Given the description of an element on the screen output the (x, y) to click on. 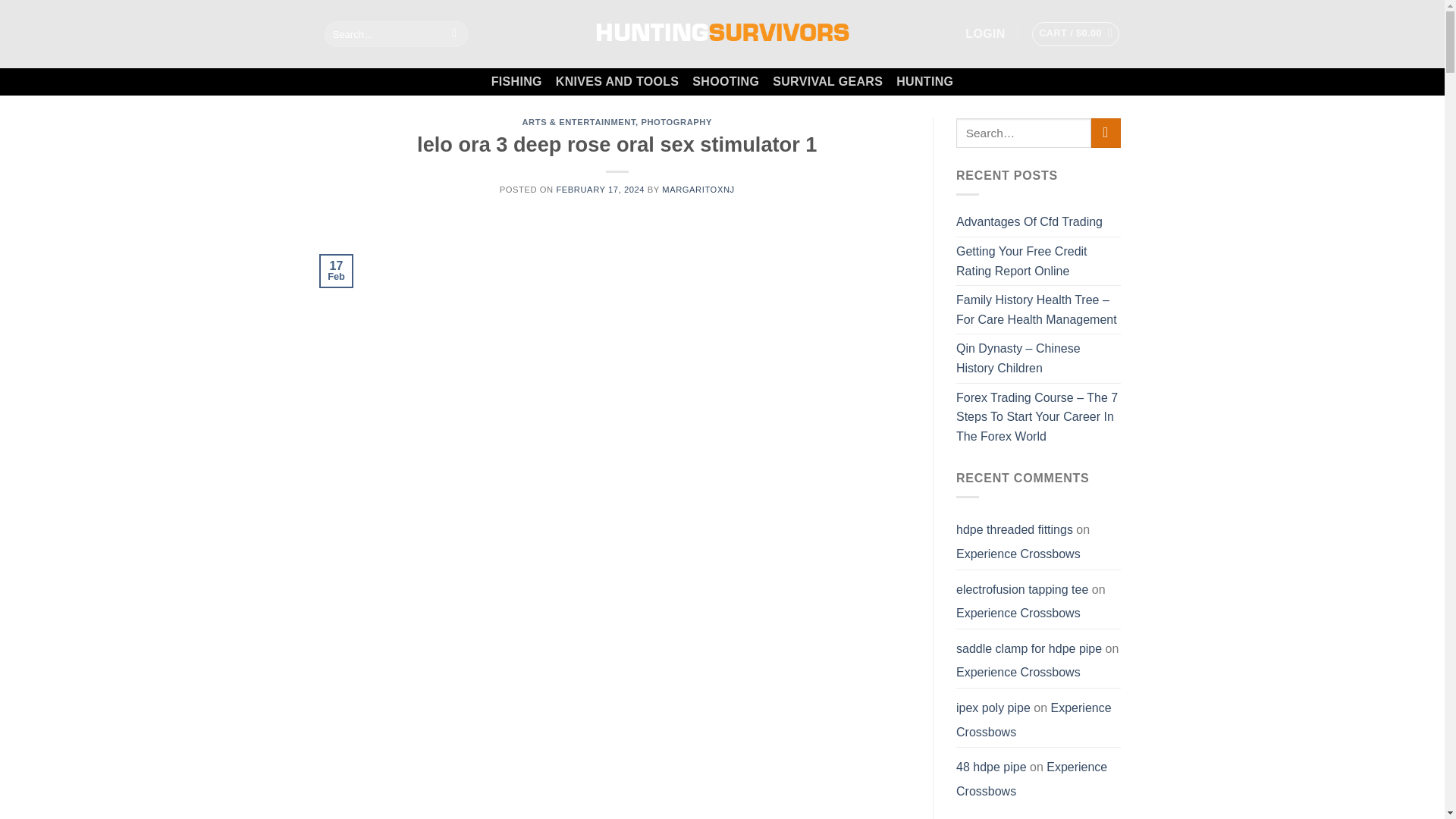
LOGIN (984, 33)
SURVIVAL GEARS (827, 81)
FEBRUARY 17, 2024 (600, 189)
KNIVES AND TOOLS (617, 81)
FISHING (516, 81)
MARGARITOXNJ (697, 189)
SHOOTING (725, 81)
Cart (1075, 33)
Search (454, 33)
